Given the description of an element on the screen output the (x, y) to click on. 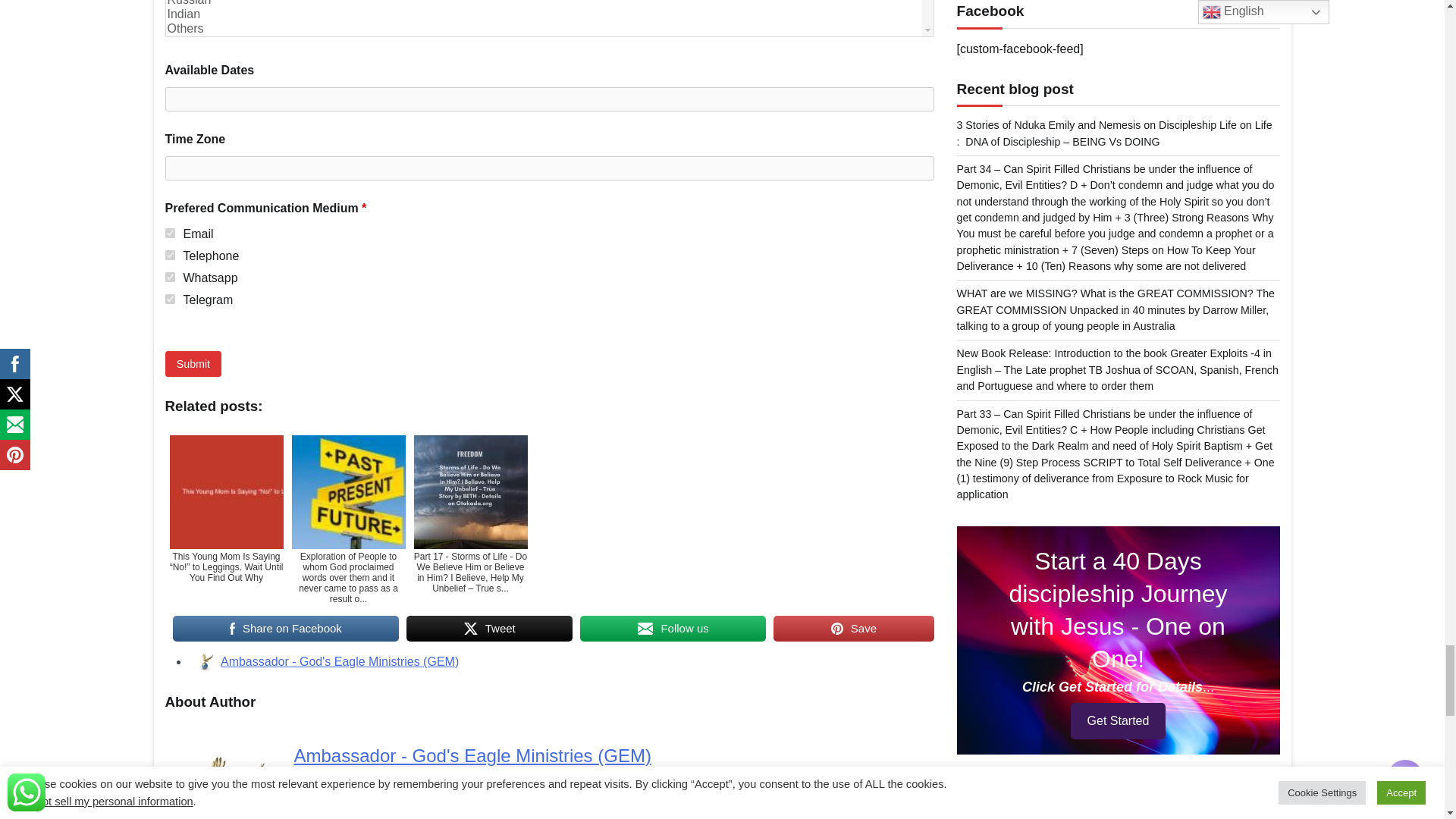
Submit (193, 363)
